Given the description of an element on the screen output the (x, y) to click on. 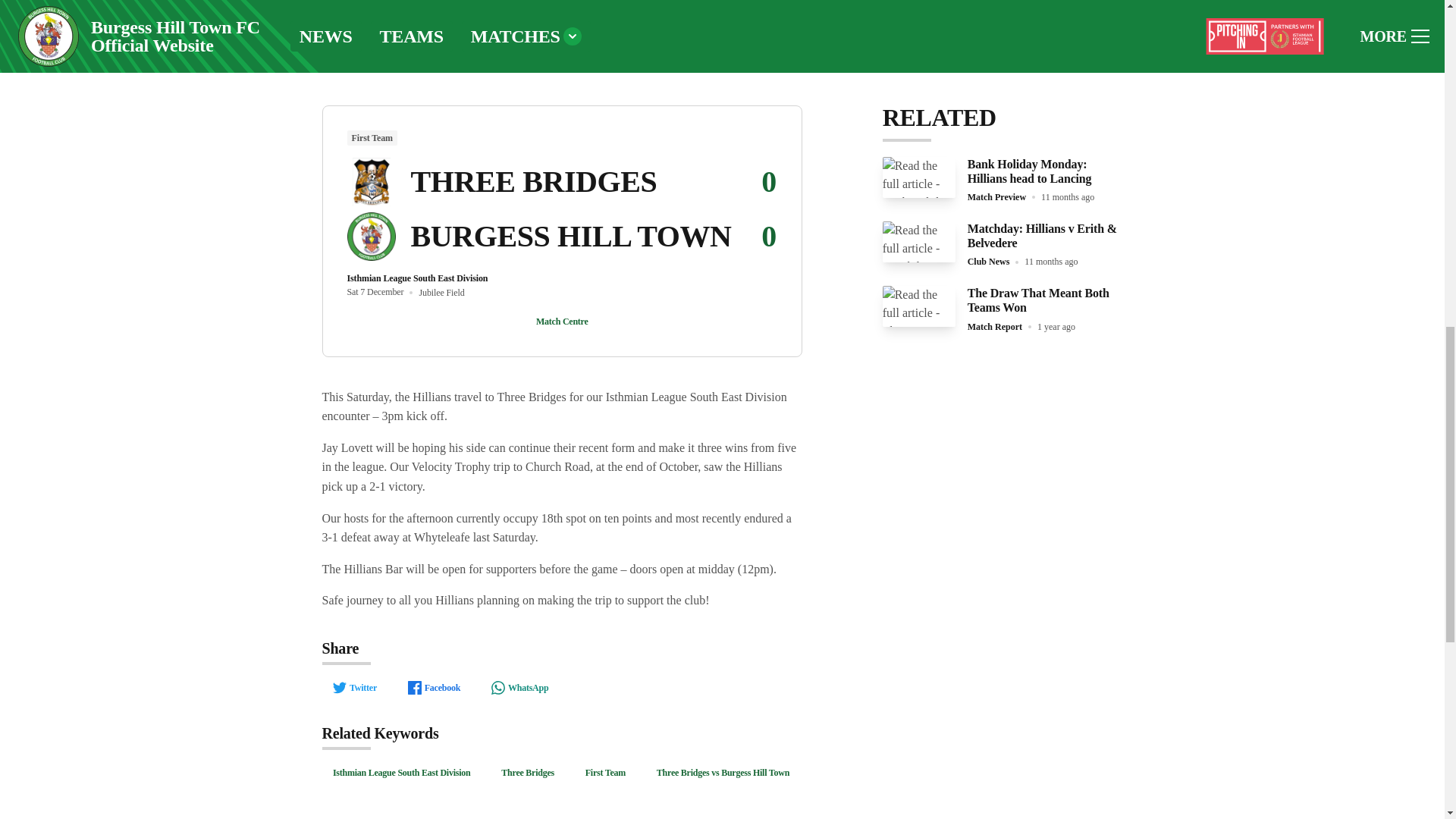
WhatsApp (519, 687)
Twitter (354, 687)
First Team (604, 772)
Facebook (433, 687)
Three Bridges (527, 772)
Match Centre (562, 321)
Isthmian League South East Division (400, 772)
Three Bridges vs Burgess Hill Town (722, 772)
